Given the description of an element on the screen output the (x, y) to click on. 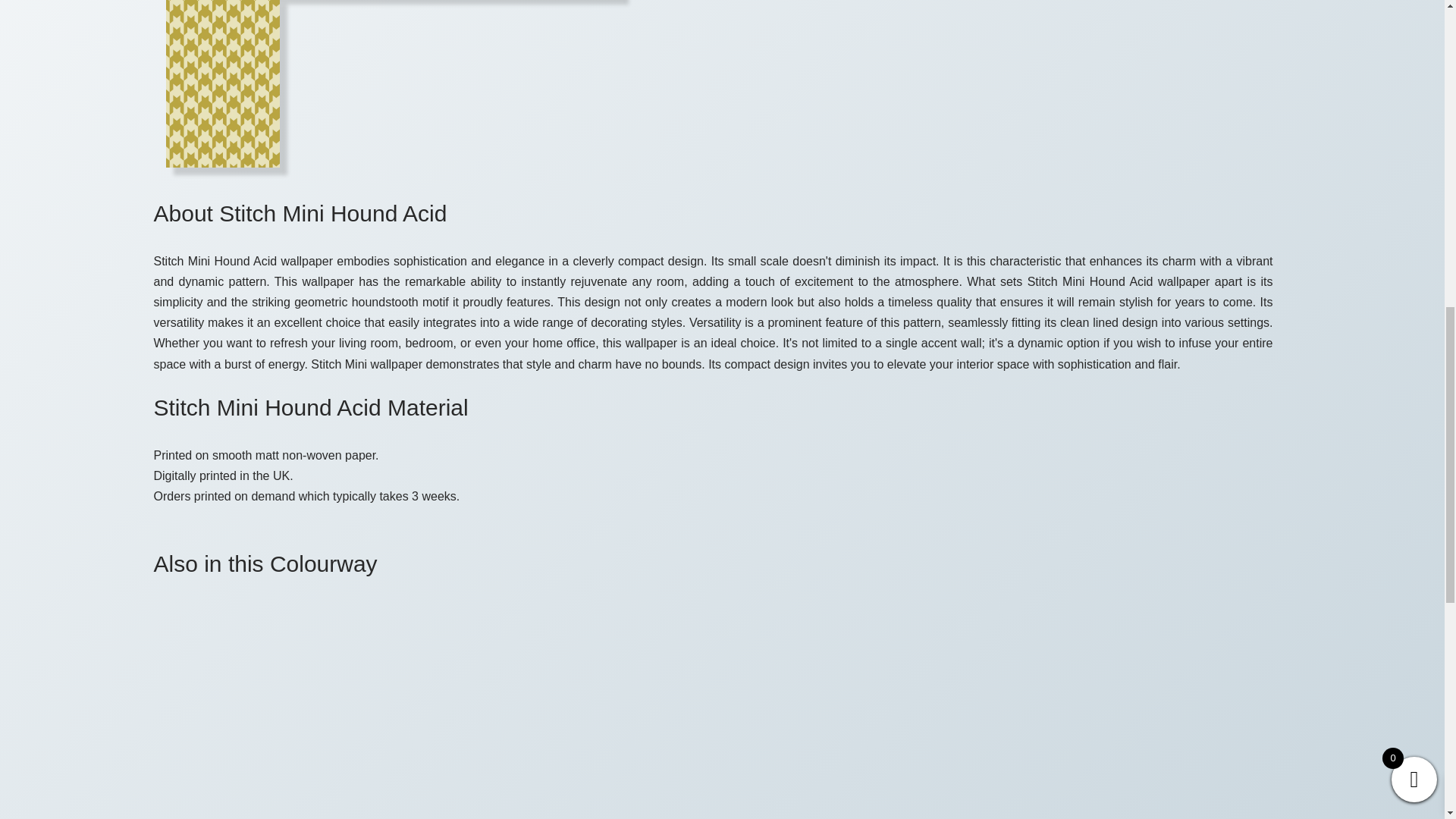
Stitch Mini Chevron Acid (557, 710)
Stitch Mini Furrow Acid (841, 710)
Stitch Mini Arrow Acid (272, 710)
